Given the description of an element on the screen output the (x, y) to click on. 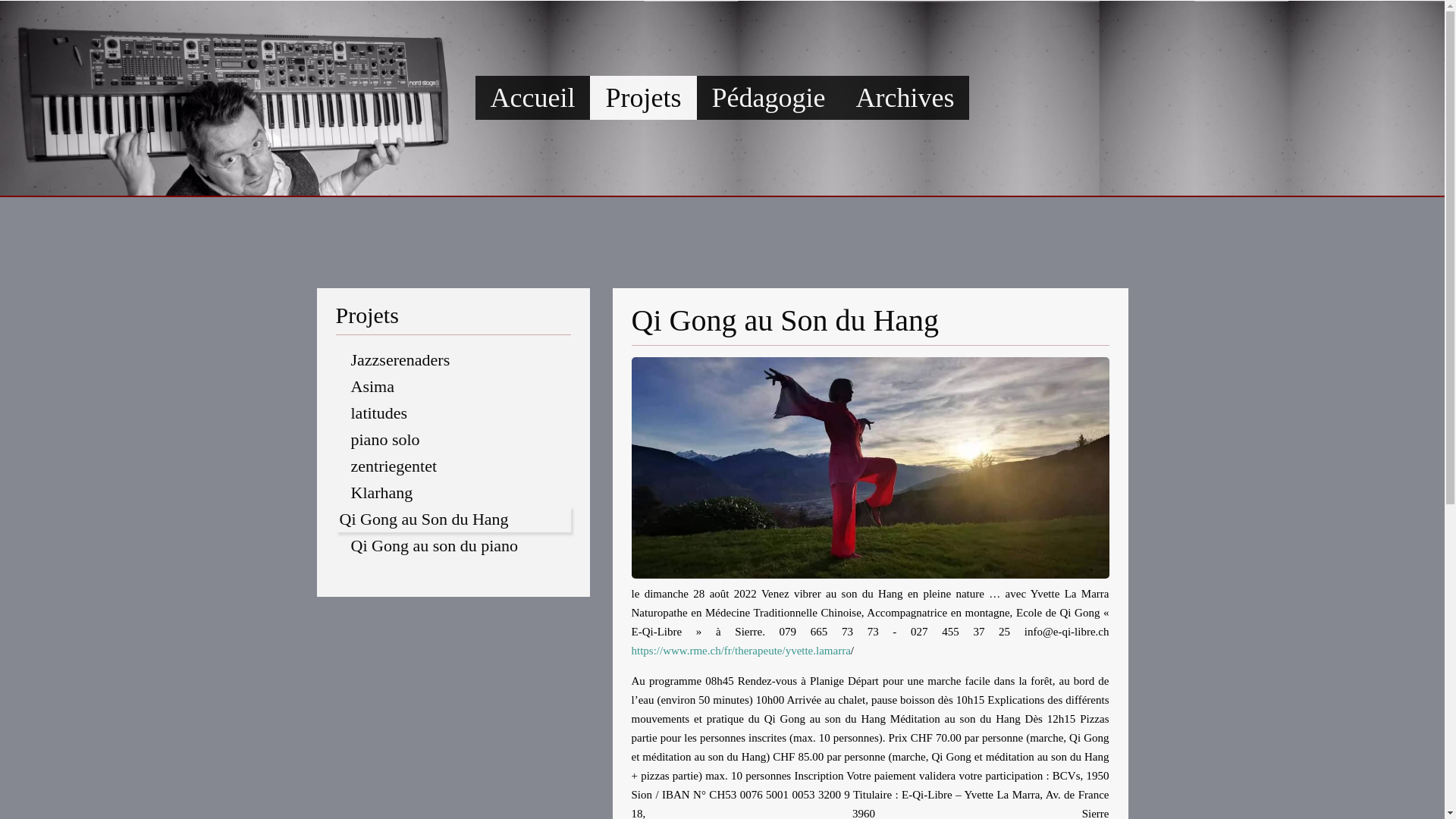
Qi Gong au Son du Hang Element type: text (452, 518)
Klarhang Element type: text (459, 492)
Qi Gong au son du piano Element type: text (459, 545)
Accueil Element type: text (532, 97)
https://www.rme.ch/fr/therapeute/yvette.lamarra Element type: text (740, 650)
Jazzserenaders Element type: text (459, 359)
zentriegentet Element type: text (459, 465)
latitudes Element type: text (459, 412)
Projets Element type: text (642, 97)
piano solo Element type: text (459, 439)
Archives Element type: text (904, 97)
Projets Element type: text (452, 315)
Asima Element type: text (459, 386)
